Given the description of an element on the screen output the (x, y) to click on. 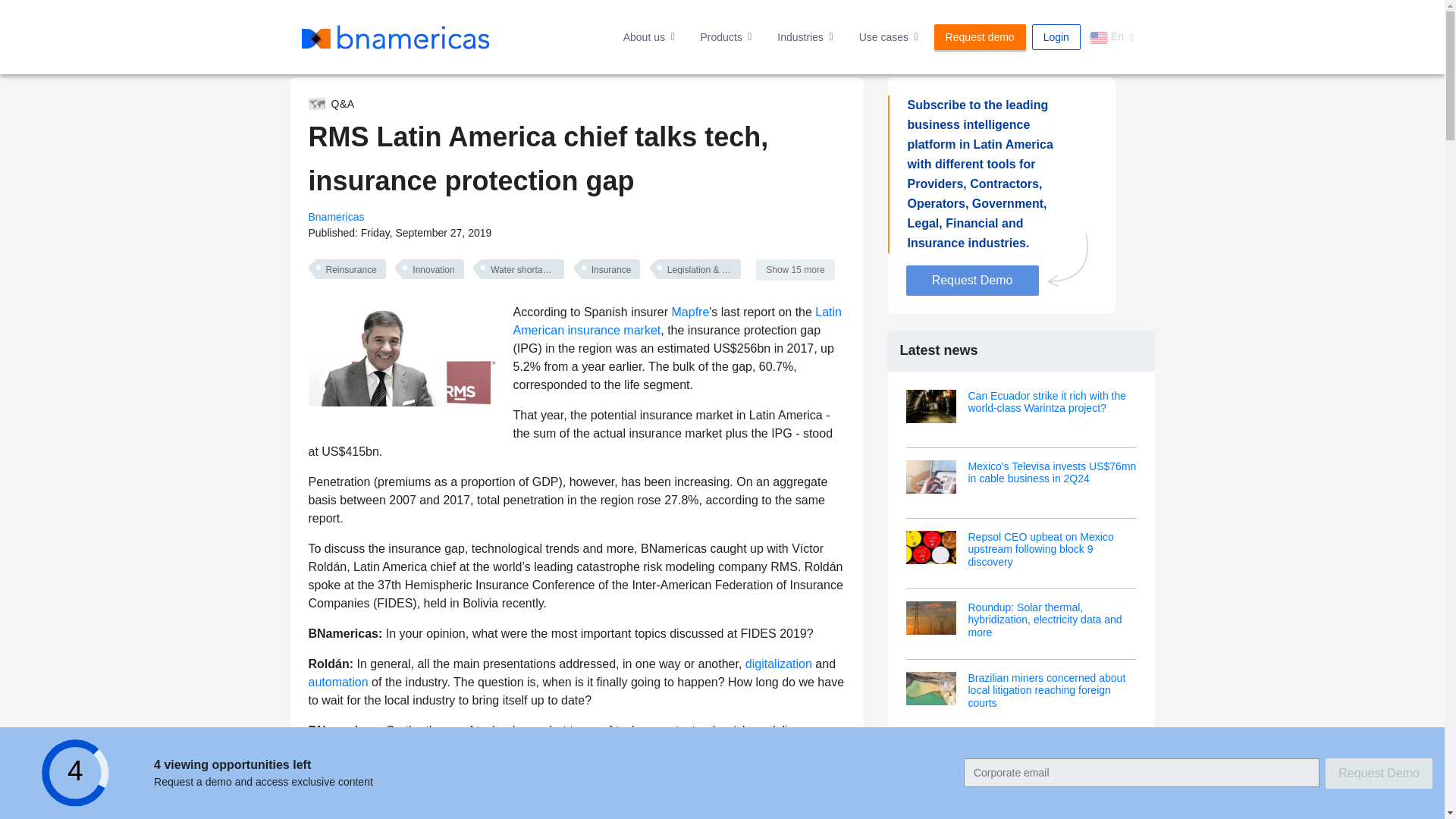
4 (75, 772)
Industries (805, 36)
Use cases (888, 36)
En (1111, 37)
Request demo (980, 36)
Login (1056, 36)
Products (725, 36)
About us (648, 36)
